Given the description of an element on the screen output the (x, y) to click on. 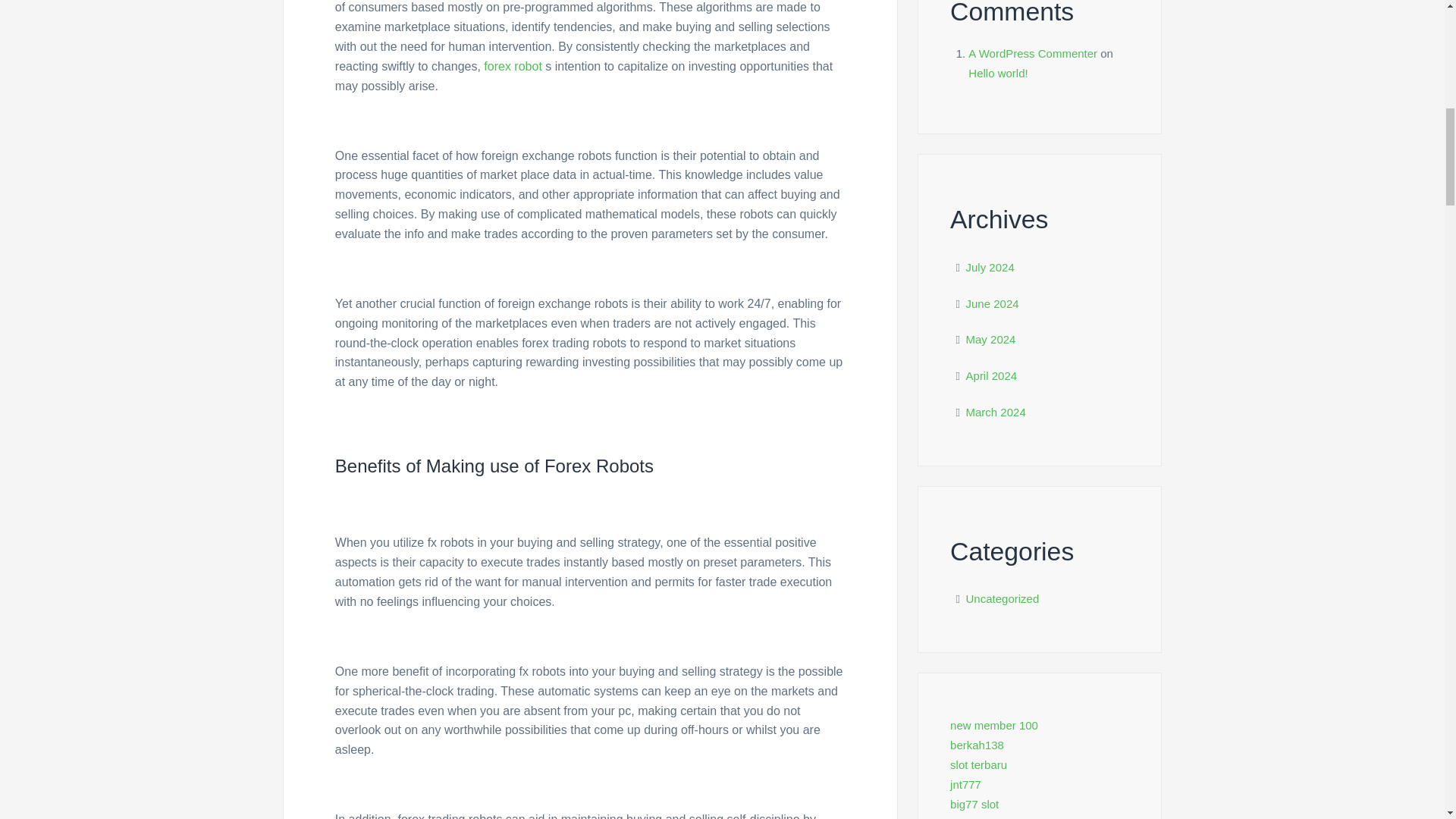
March 2024 (996, 411)
new member 100 (994, 725)
Uncategorized (1002, 598)
big77 slot (974, 803)
May 2024 (991, 338)
awalslot (970, 818)
jnt777 (965, 784)
April 2024 (991, 375)
June 2024 (992, 303)
forex robot (512, 65)
Hello world! (997, 72)
berkah138 (977, 744)
slot terbaru (978, 764)
A WordPress Commenter (1032, 52)
July 2024 (990, 267)
